Given the description of an element on the screen output the (x, y) to click on. 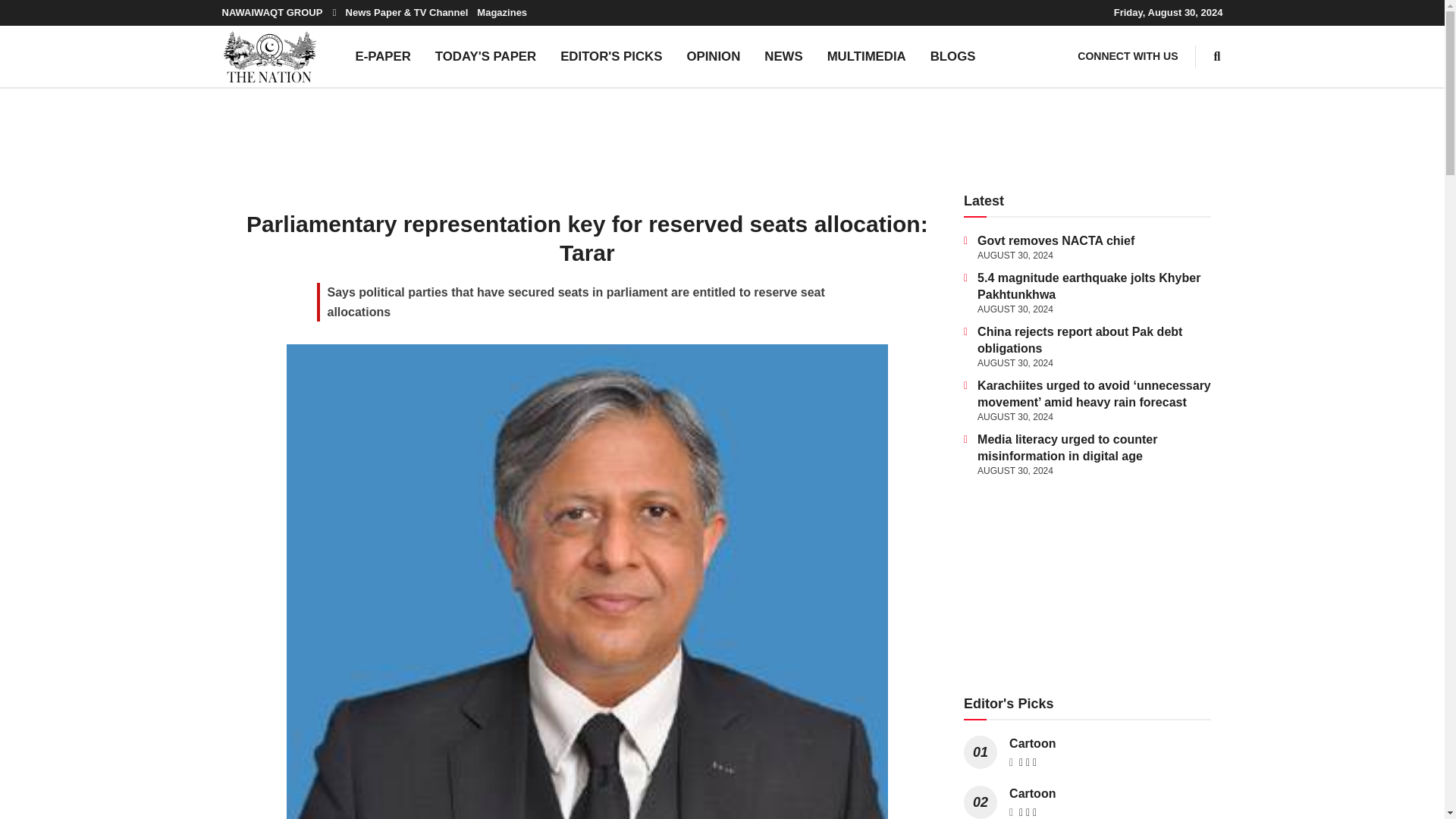
TODAY'S PAPER (485, 55)
EDITOR'S PICKS (611, 55)
BLOGS (953, 55)
MULTIMEDIA (866, 55)
OPINION (713, 55)
Magazines (502, 12)
E-PAPER (382, 55)
NEWS (782, 55)
